Given the description of an element on the screen output the (x, y) to click on. 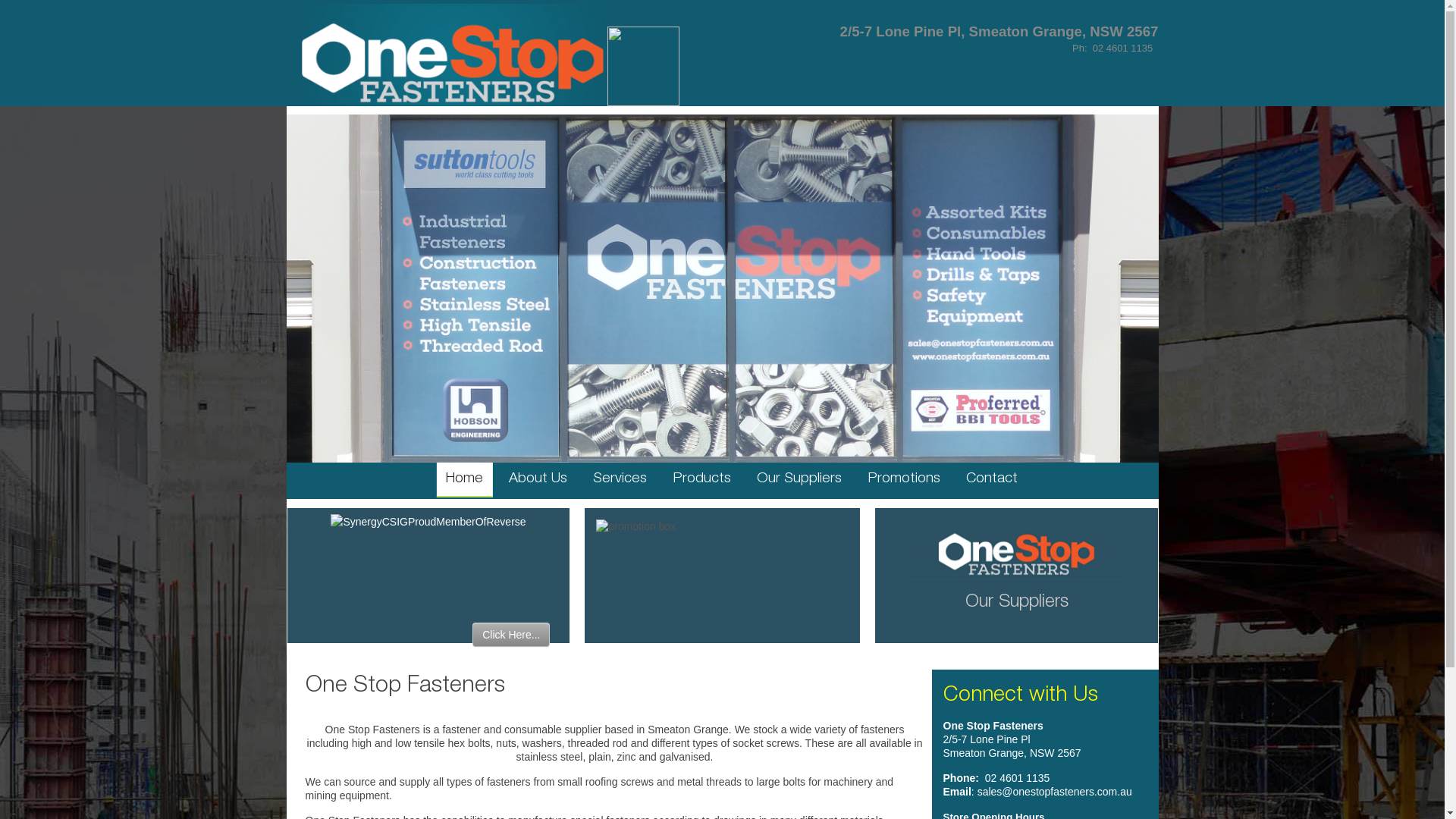
Promotions Element type: text (903, 478)
Home Element type: text (464, 479)
sales@onestopfasteners.com.au Element type: text (1054, 791)
About Us Element type: text (537, 478)
Products Element type: text (701, 478)
Click Here... Element type: text (510, 634)
One Stop Fasteners Element type: text (404, 686)
Our Suppliers Element type: text (1016, 602)
Services Element type: text (619, 478)
Contact Element type: text (991, 478)
Our Suppliers Element type: text (798, 478)
